Given the description of an element on the screen output the (x, y) to click on. 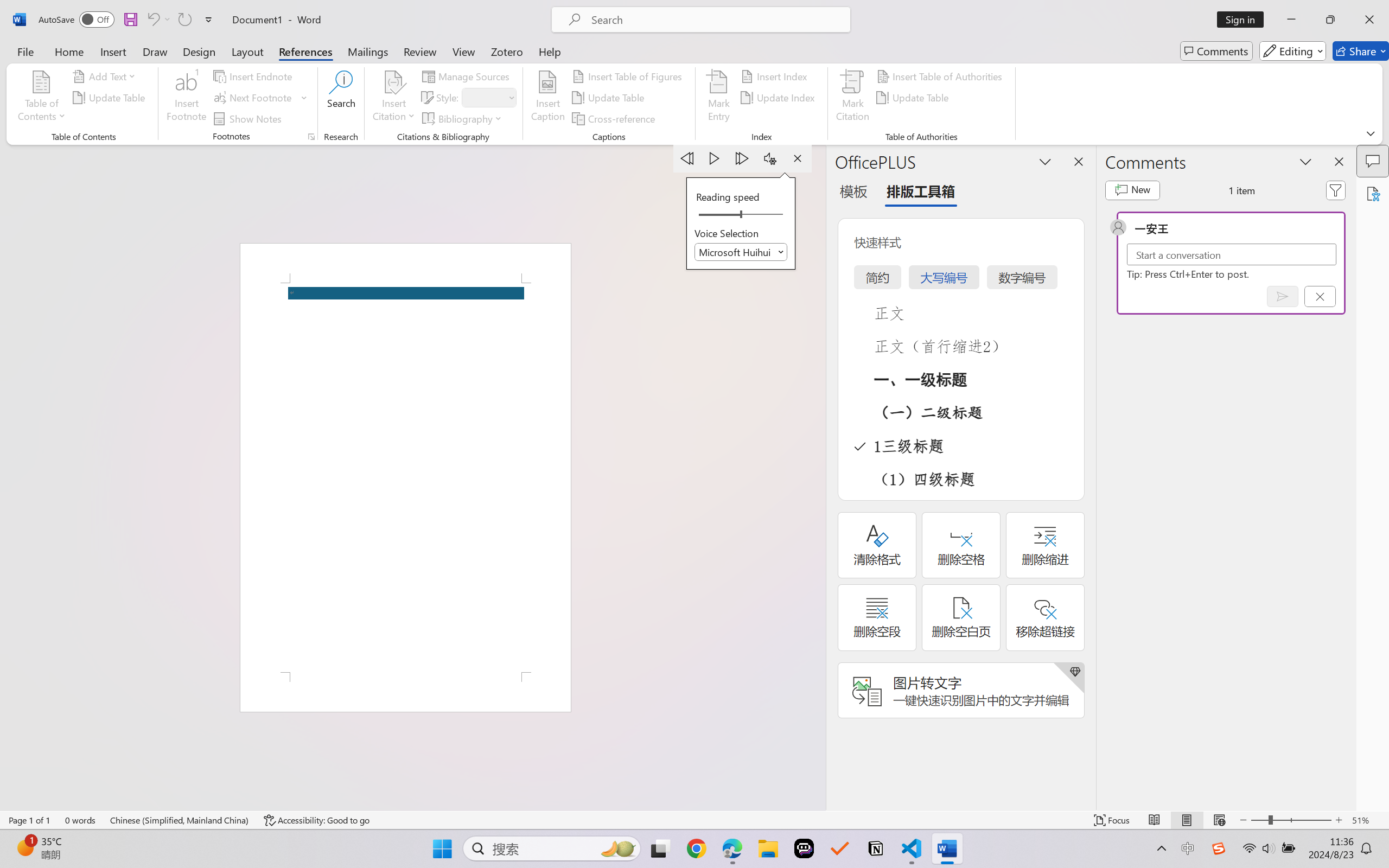
Repeat Accessibility Checker (184, 19)
Bibliography (463, 118)
Search (341, 97)
